Given the description of an element on the screen output the (x, y) to click on. 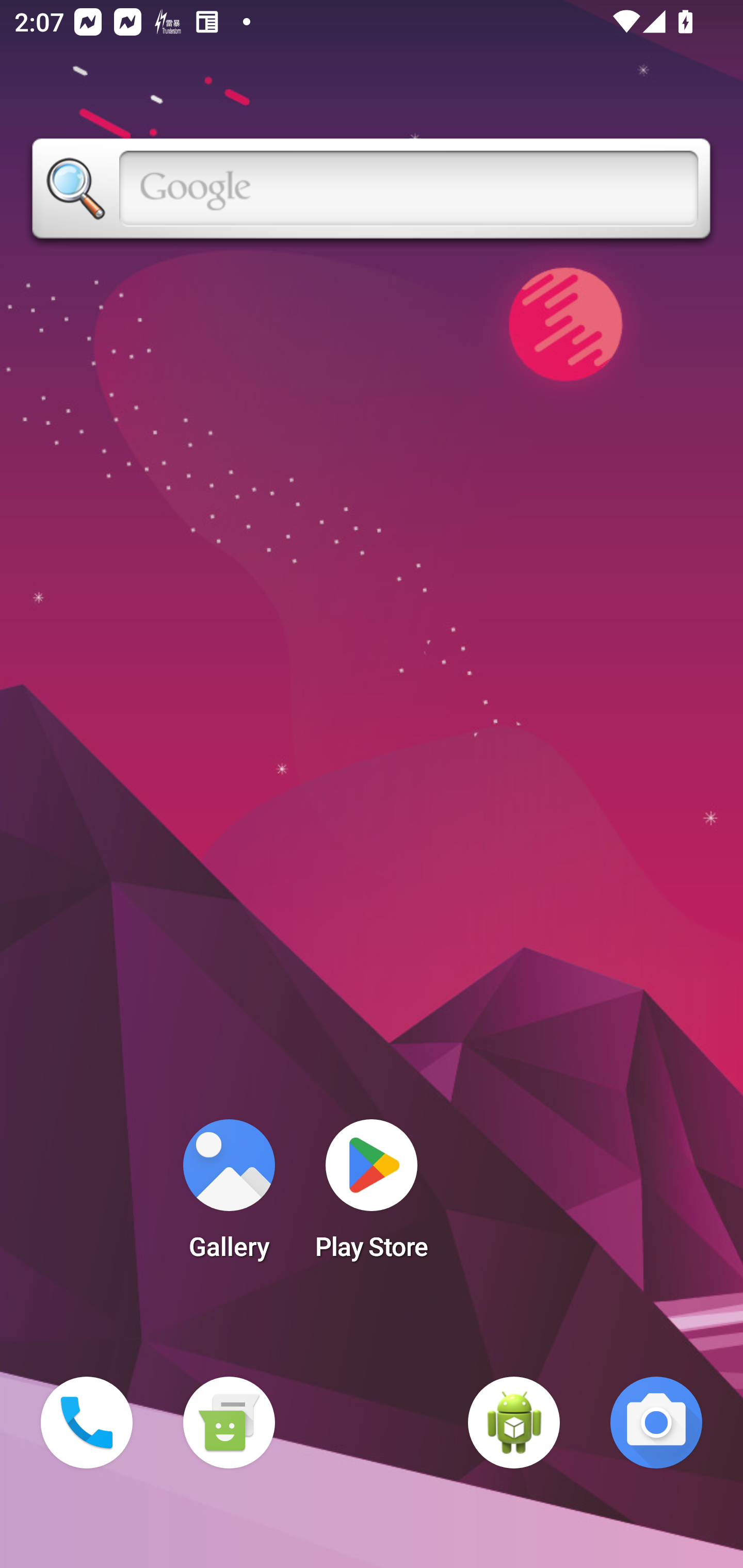
Gallery (228, 1195)
Play Store (371, 1195)
Phone (86, 1422)
Messaging (228, 1422)
WebView Browser Tester (513, 1422)
Camera (656, 1422)
